Given the description of an element on the screen output the (x, y) to click on. 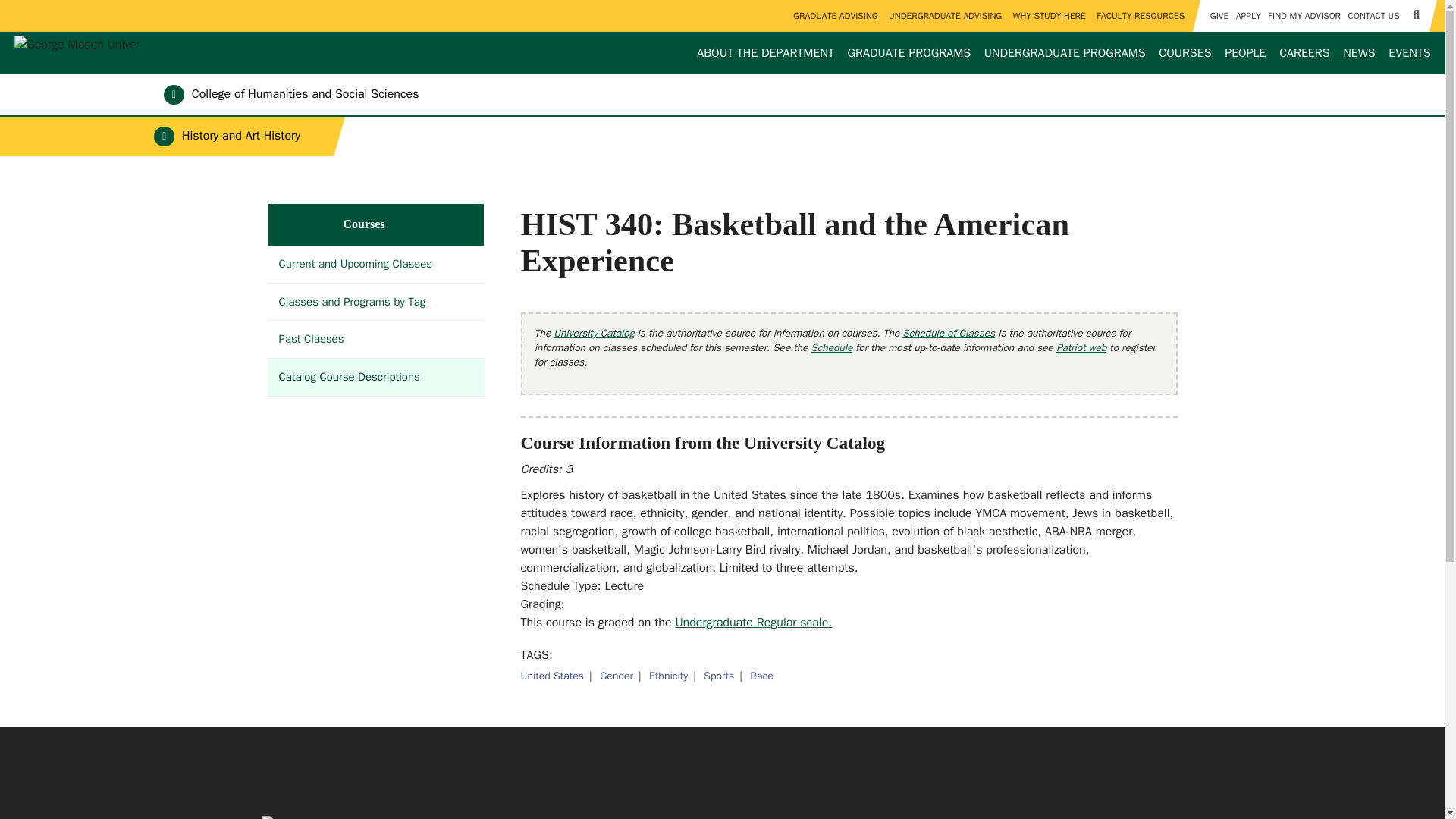
News (1359, 52)
Graduate Programs (909, 52)
FIND MY ADVISOR (1304, 15)
Courses (1184, 52)
WHY STUDY HERE (1049, 15)
FACULTY RESOURCES (1140, 15)
Undergraduate Advising (945, 15)
GRADUATE PROGRAMS (909, 52)
Undergraduate Programs (1064, 52)
Why Study Here (1049, 15)
